Given the description of an element on the screen output the (x, y) to click on. 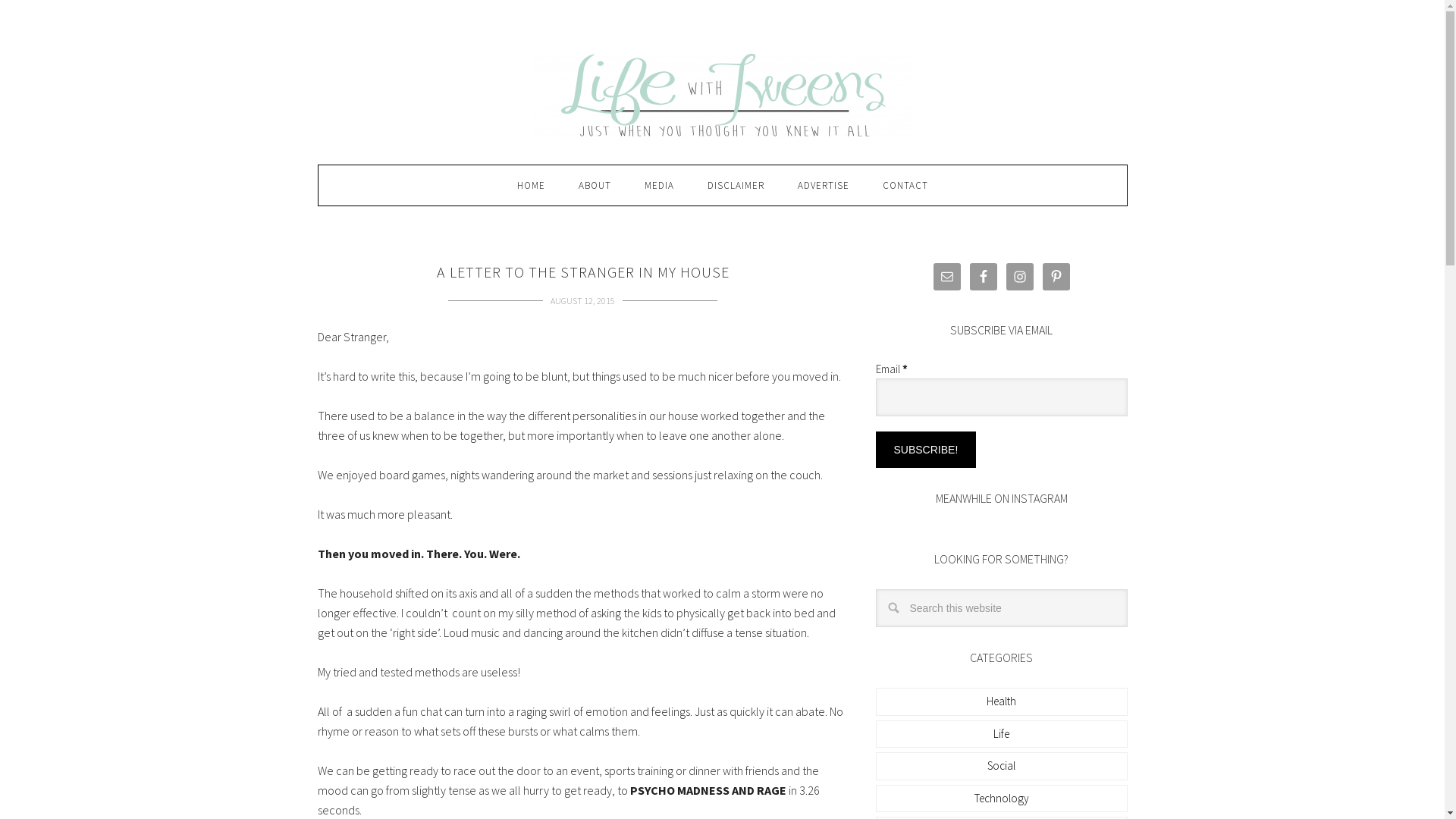
HOME Element type: text (531, 185)
Subscribe! Element type: text (925, 449)
Search Element type: text (1126, 588)
Email Element type: hover (1000, 397)
Technology Element type: text (1000, 797)
CONTACT Element type: text (905, 185)
MEDIA Element type: text (659, 185)
ADVERTISE Element type: text (823, 185)
DISCLAIMER Element type: text (734, 185)
LIFE WITH TWEENS Element type: text (721, 94)
Life Element type: text (1001, 733)
Social Element type: text (1001, 765)
Health Element type: text (1001, 700)
ABOUT Element type: text (593, 185)
